Given the description of an element on the screen output the (x, y) to click on. 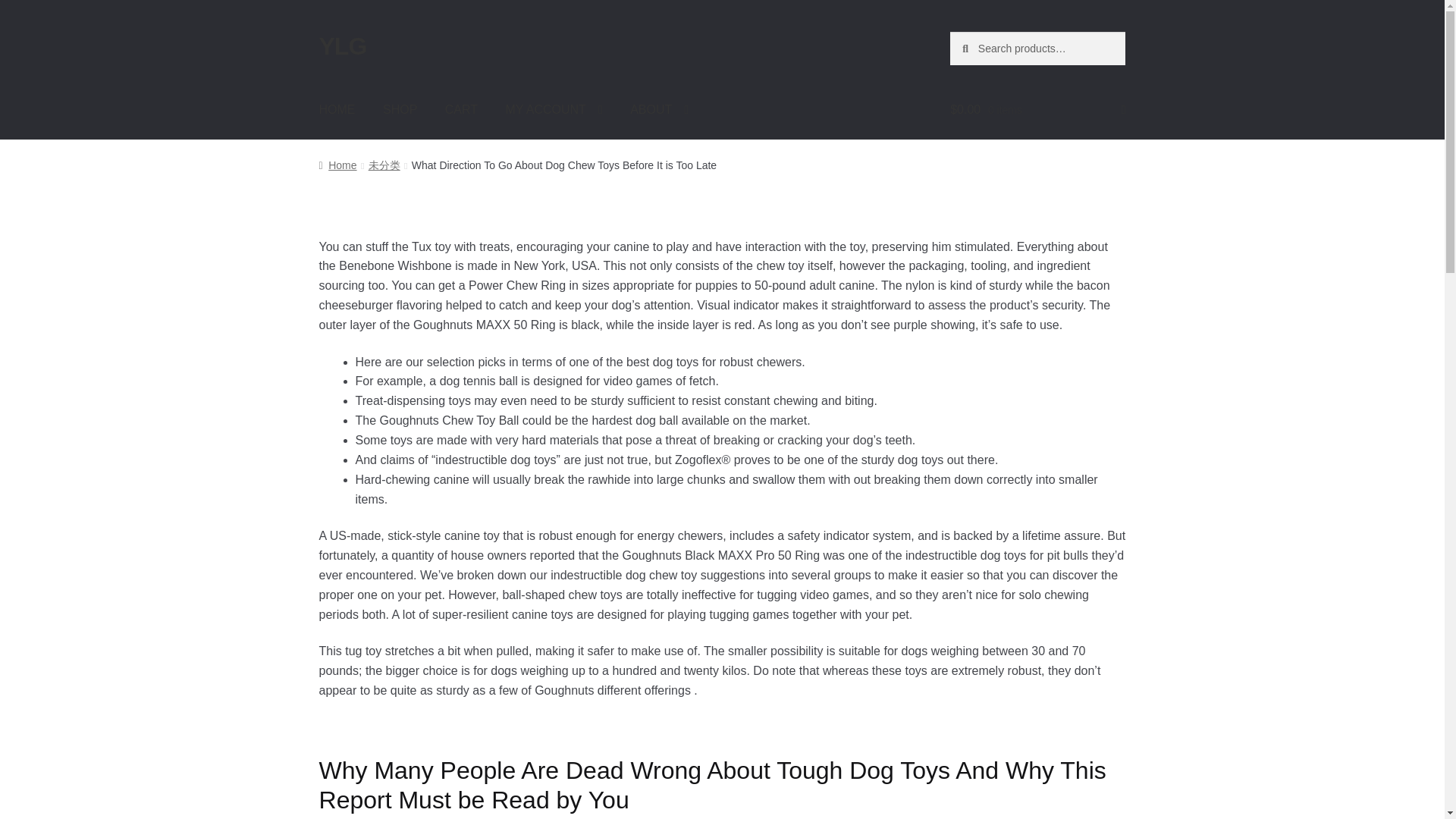
SHOP (400, 109)
ABOUT (658, 109)
Home (337, 164)
CART (460, 109)
YLG (342, 45)
HOME (337, 109)
MY ACCOUNT (553, 109)
View your shopping cart (1037, 109)
